Given the description of an element on the screen output the (x, y) to click on. 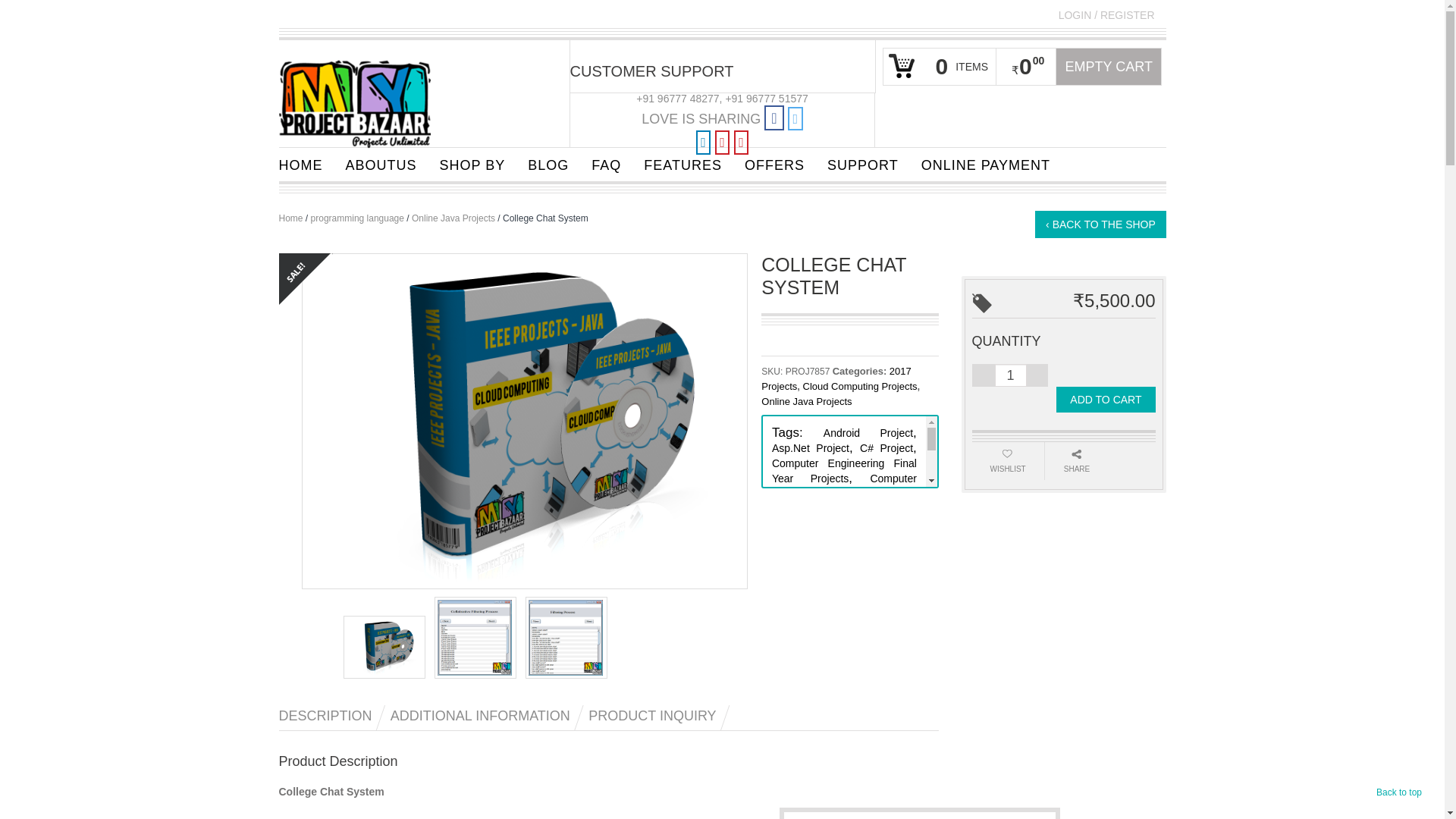
SHOP BY (472, 163)
1 (1010, 374)
PROJ5493 (383, 646)
PROJ5493 (524, 419)
ABOUTUS (380, 163)
EMPTY CART (1108, 66)
HOME (299, 163)
